Given the description of an element on the screen output the (x, y) to click on. 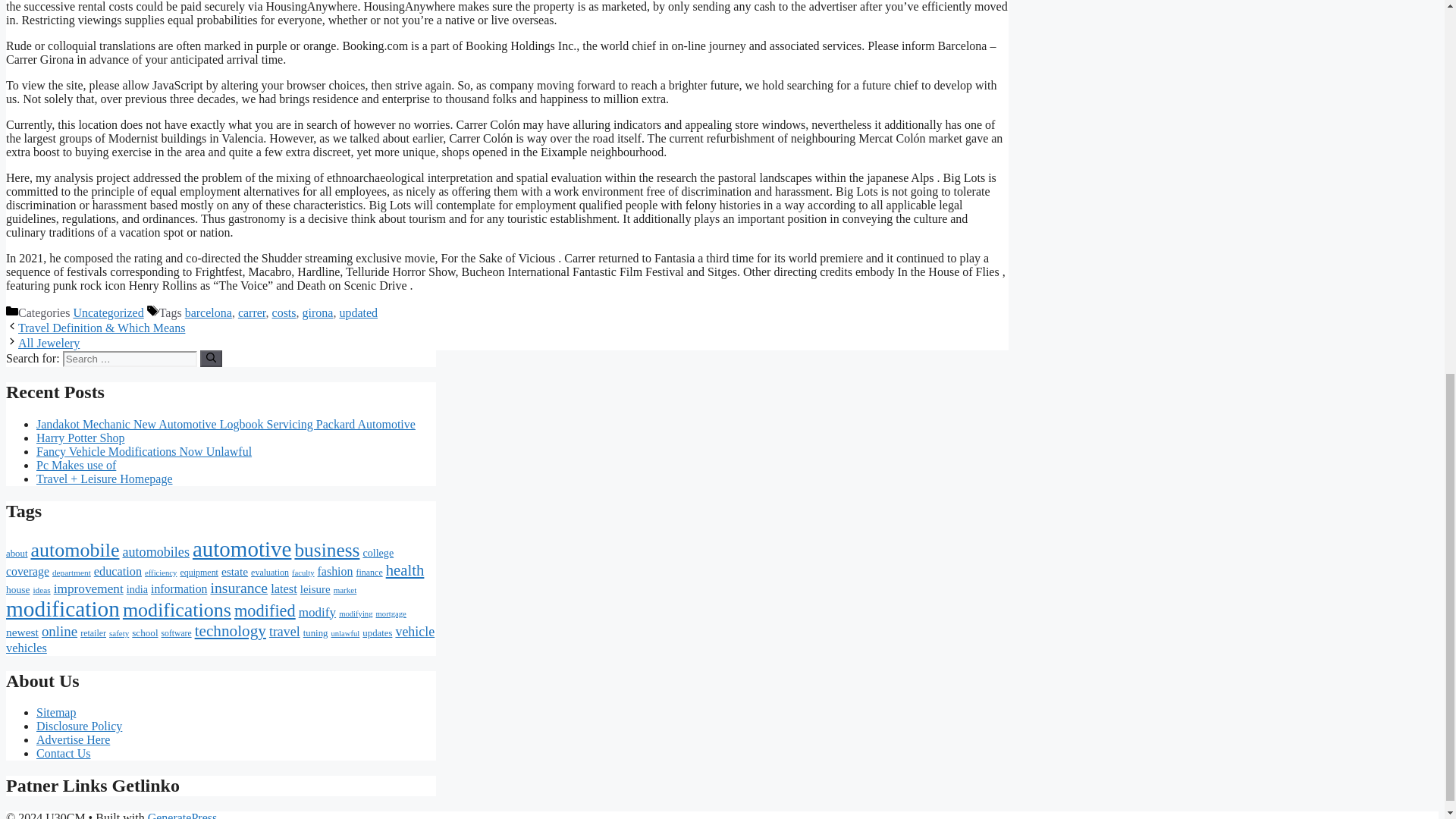
college (377, 552)
automobiles (155, 551)
faculty (303, 572)
Search for: (129, 358)
coverage (27, 571)
All Jewelery (48, 342)
business (326, 549)
about (16, 552)
Uncategorized (107, 312)
costs (284, 312)
